Given the description of an element on the screen output the (x, y) to click on. 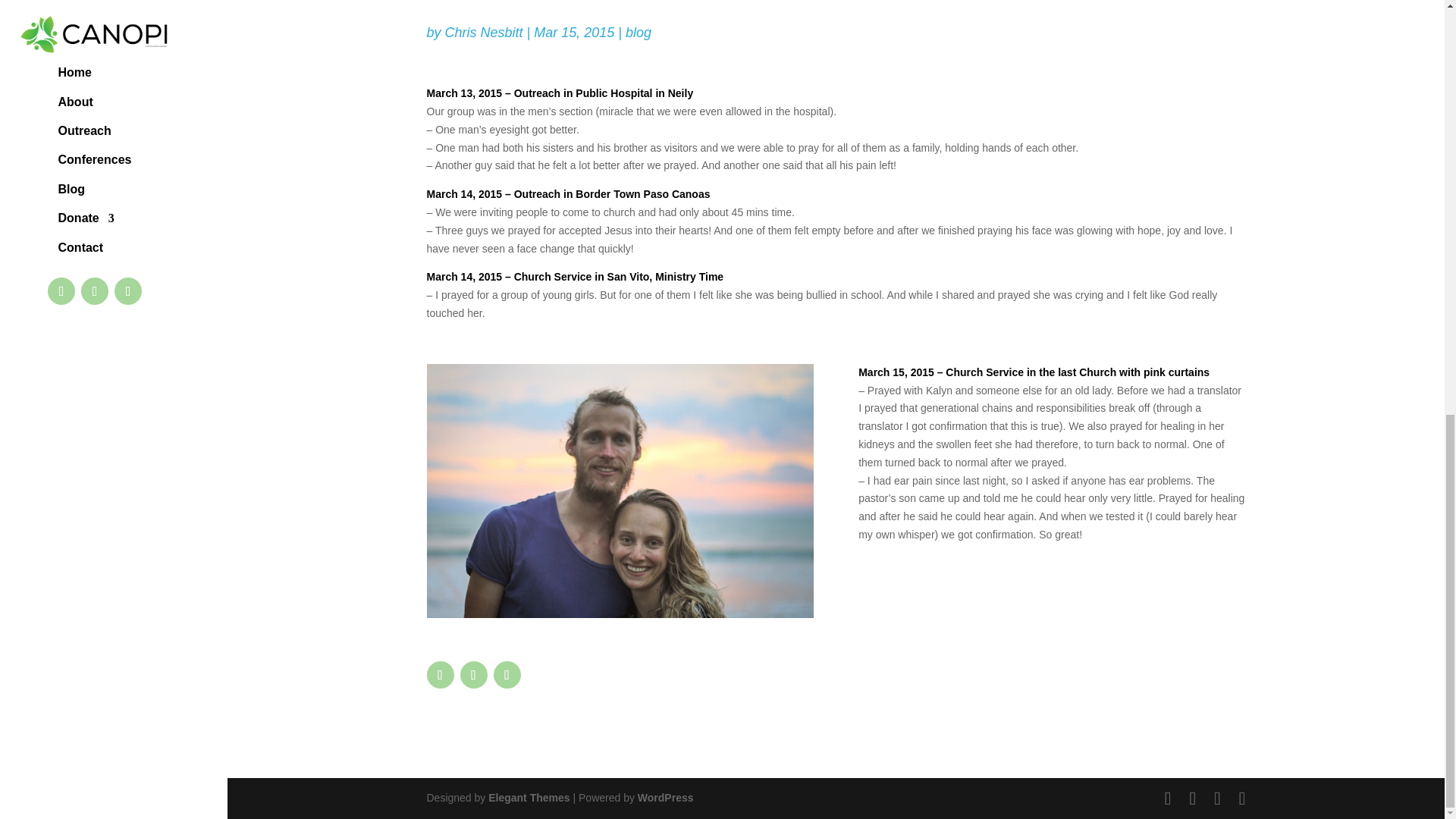
WordPress (665, 797)
Chris Nesbitt (483, 32)
Posts by Chris Nesbitt (483, 32)
zurbriggen (619, 490)
Follow on Instagram (506, 674)
Elegant Themes (528, 797)
Follow on Twitter (473, 674)
Premium WordPress Themes (528, 797)
Follow on Facebook (439, 674)
blog (638, 32)
